Given the description of an element on the screen output the (x, y) to click on. 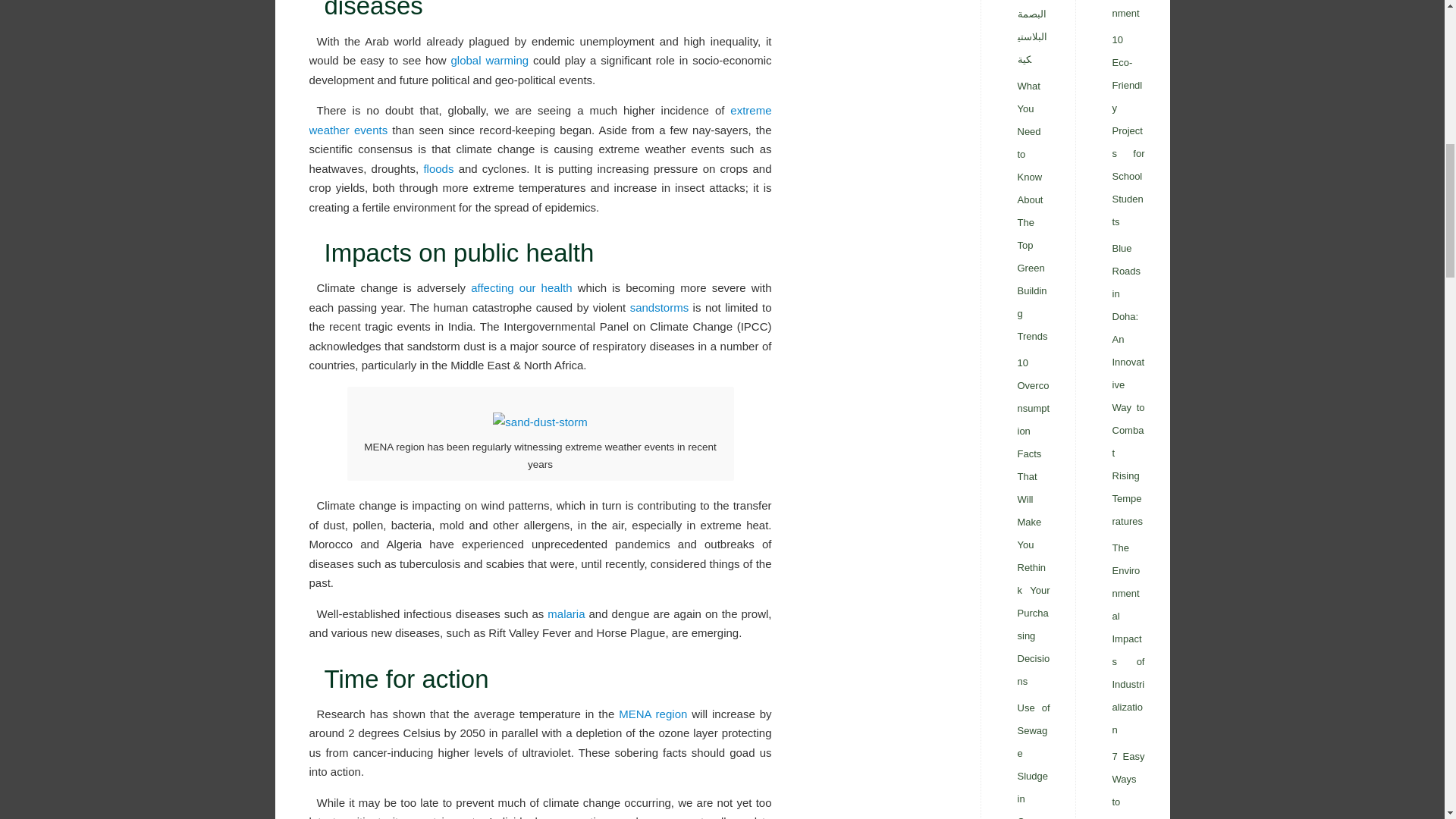
malaria (566, 613)
floods (437, 168)
global warming (488, 60)
affecting our health (521, 287)
sandstorms (659, 307)
MENA region (652, 713)
extreme weather events (539, 120)
